Given the description of an element on the screen output the (x, y) to click on. 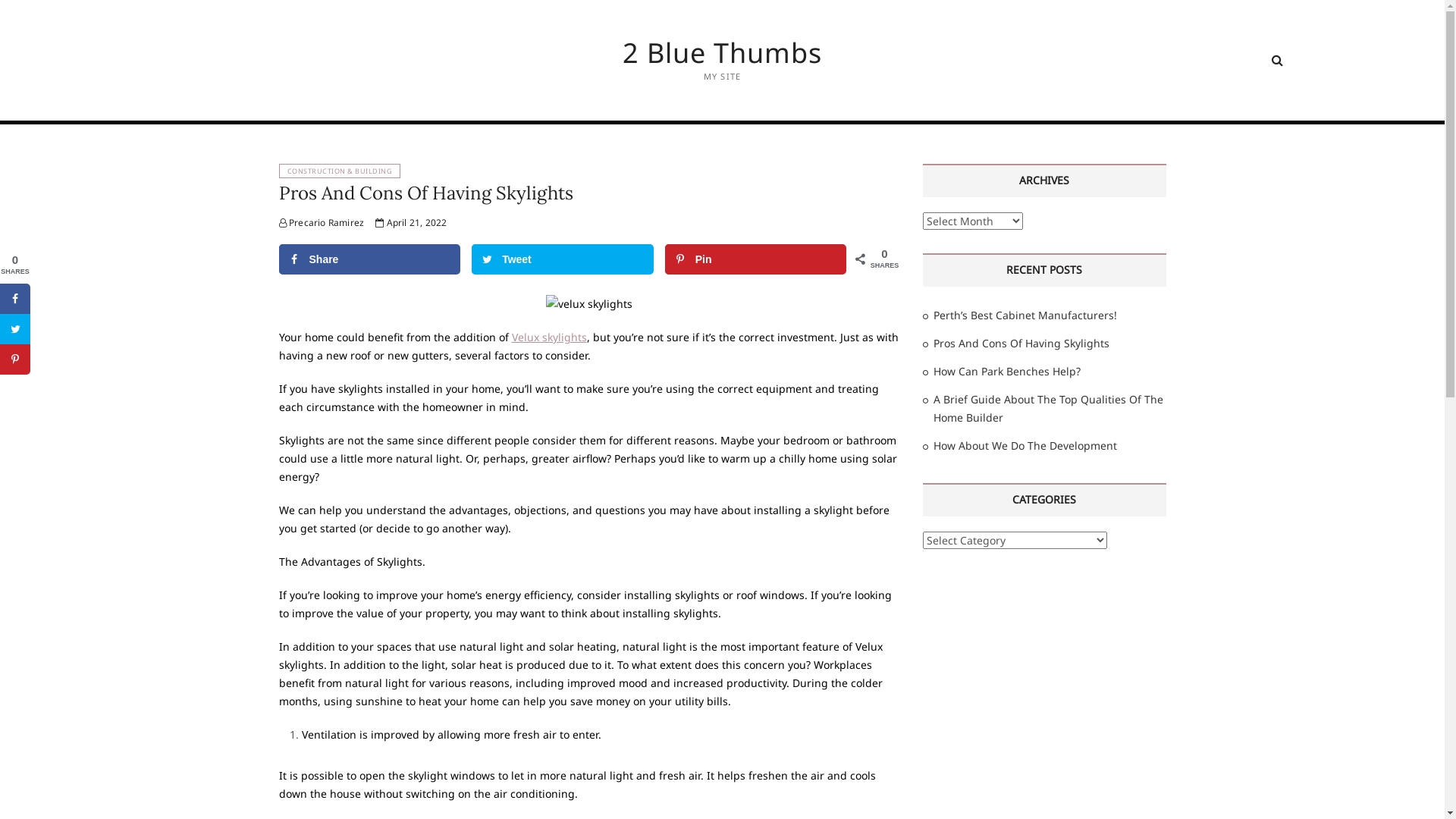
2 Blue Thumbs Element type: text (721, 52)
Pin Element type: text (756, 259)
velux skylights Element type: hover (589, 303)
How Can Park Benches Help? Element type: text (1005, 371)
A Brief Guide About The Top Qualities Of The Home Builder Element type: text (1047, 408)
CONSTRUCTION & BUILDING Element type: text (340, 170)
Pros And Cons Of Having Skylights Element type: text (426, 192)
Share on Facebook Element type: hover (15, 298)
Save to Pinterest Element type: hover (15, 359)
Pros And Cons Of Having Skylights Element type: text (1020, 342)
Share Element type: text (370, 259)
Velux skylights Element type: text (548, 336)
How About We Do The Development Element type: text (1024, 445)
April 21, 2022 Element type: text (410, 222)
Share on Twitter Element type: hover (15, 328)
Precario Ramirez Element type: text (321, 222)
Tweet Element type: text (562, 259)
